Given the description of an element on the screen output the (x, y) to click on. 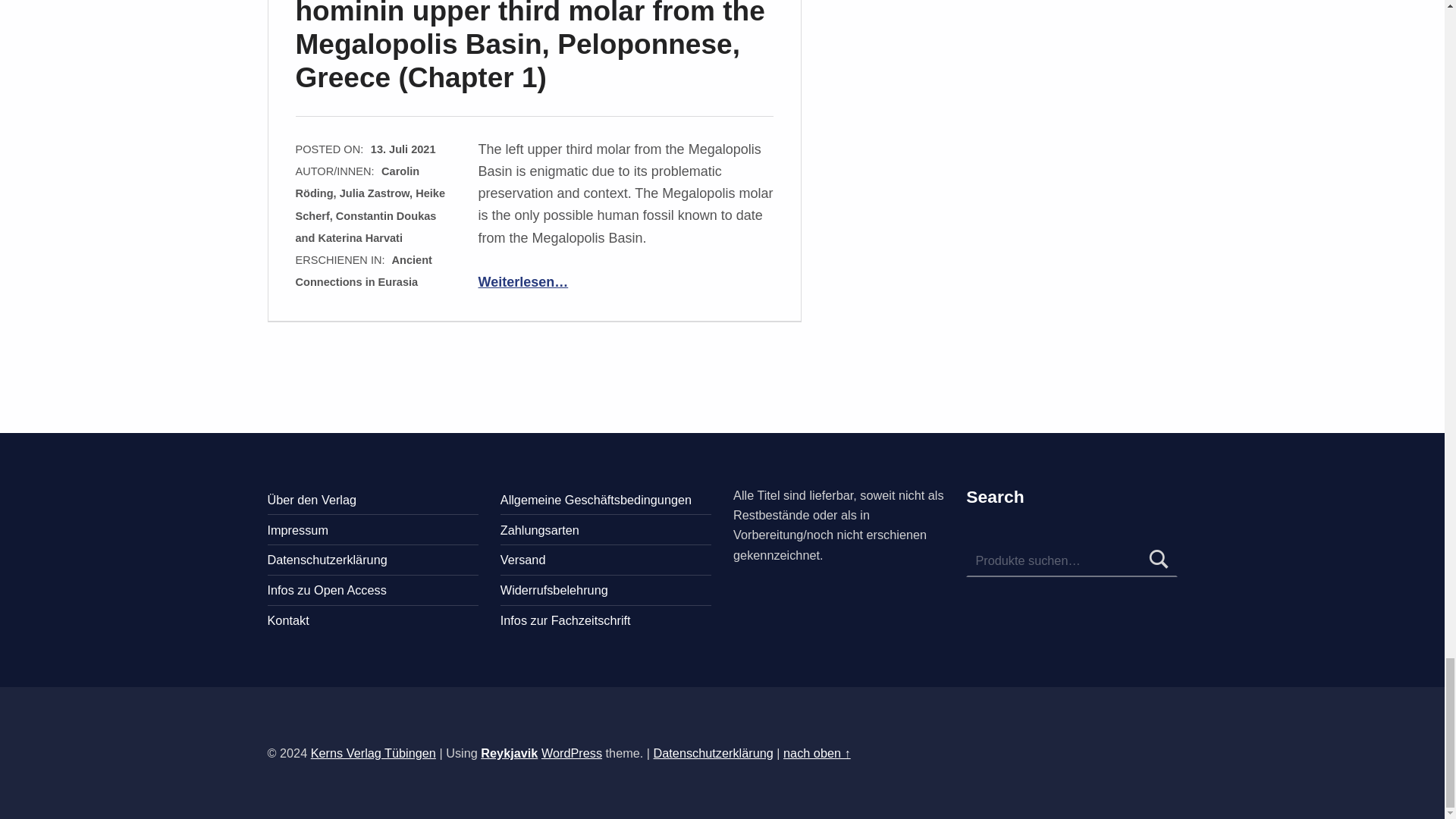
Posted on: 13. Juli 2021 (403, 149)
